Given the description of an element on the screen output the (x, y) to click on. 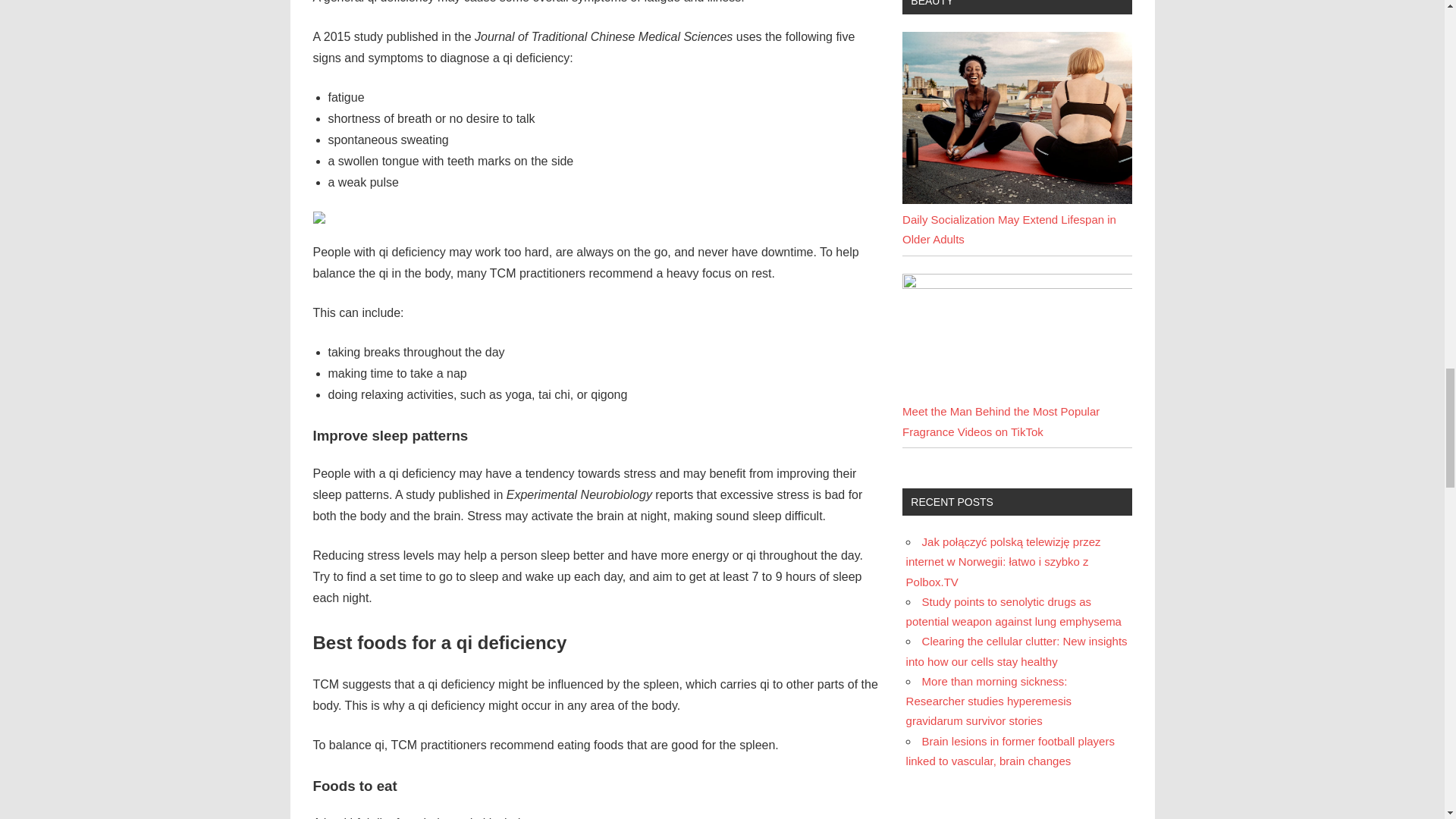
Daily Socialization May Extend Lifespan in Older Adults (1016, 117)
Daily Socialization May Extend Lifespan in Older Adults (1016, 199)
Daily Socialization May Extend Lifespan in Older Adults (1009, 228)
